Given the description of an element on the screen output the (x, y) to click on. 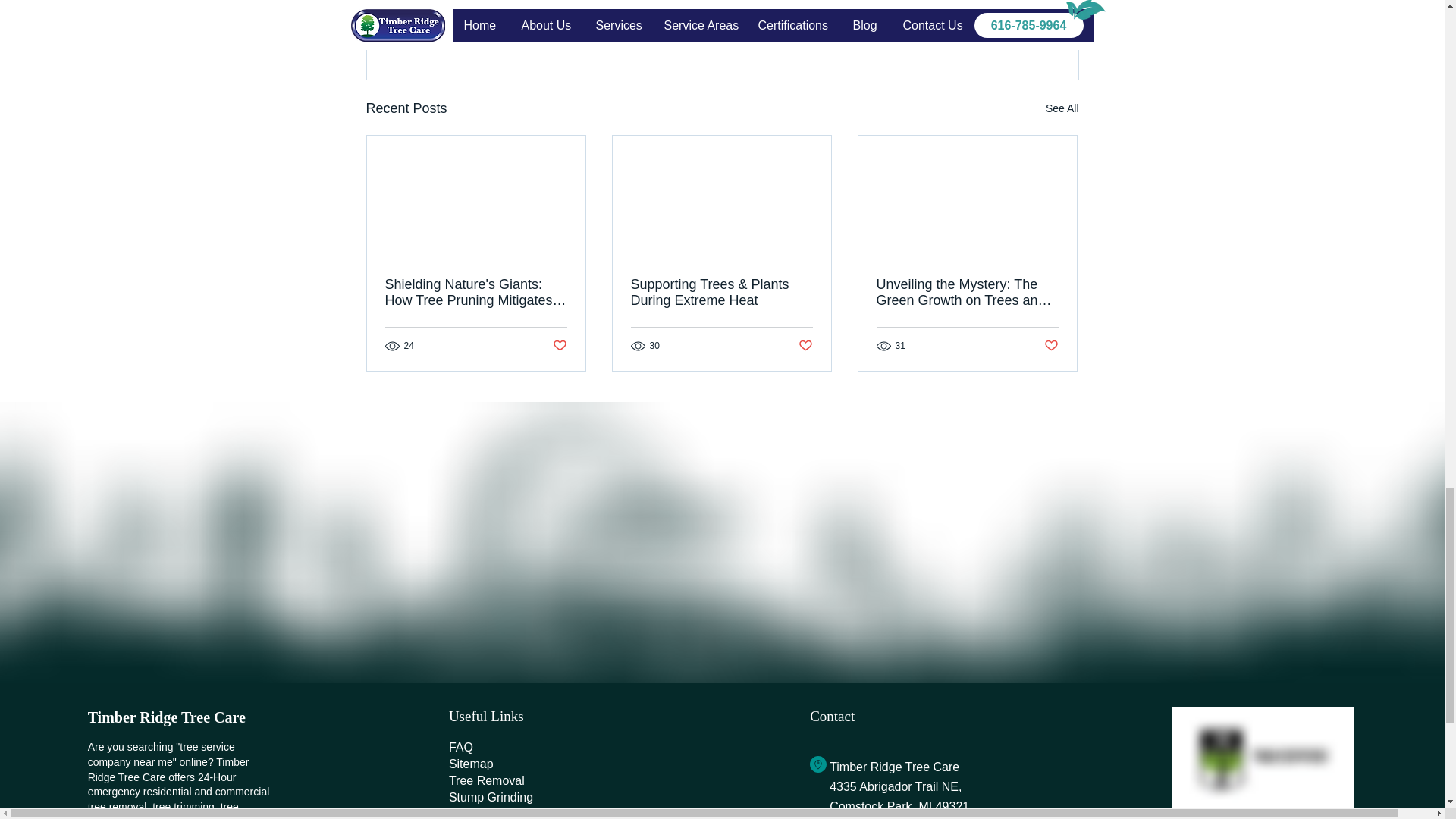
See All (1061, 108)
Post not marked as liked (995, 26)
Post not marked as liked (558, 345)
